Given the description of an element on the screen output the (x, y) to click on. 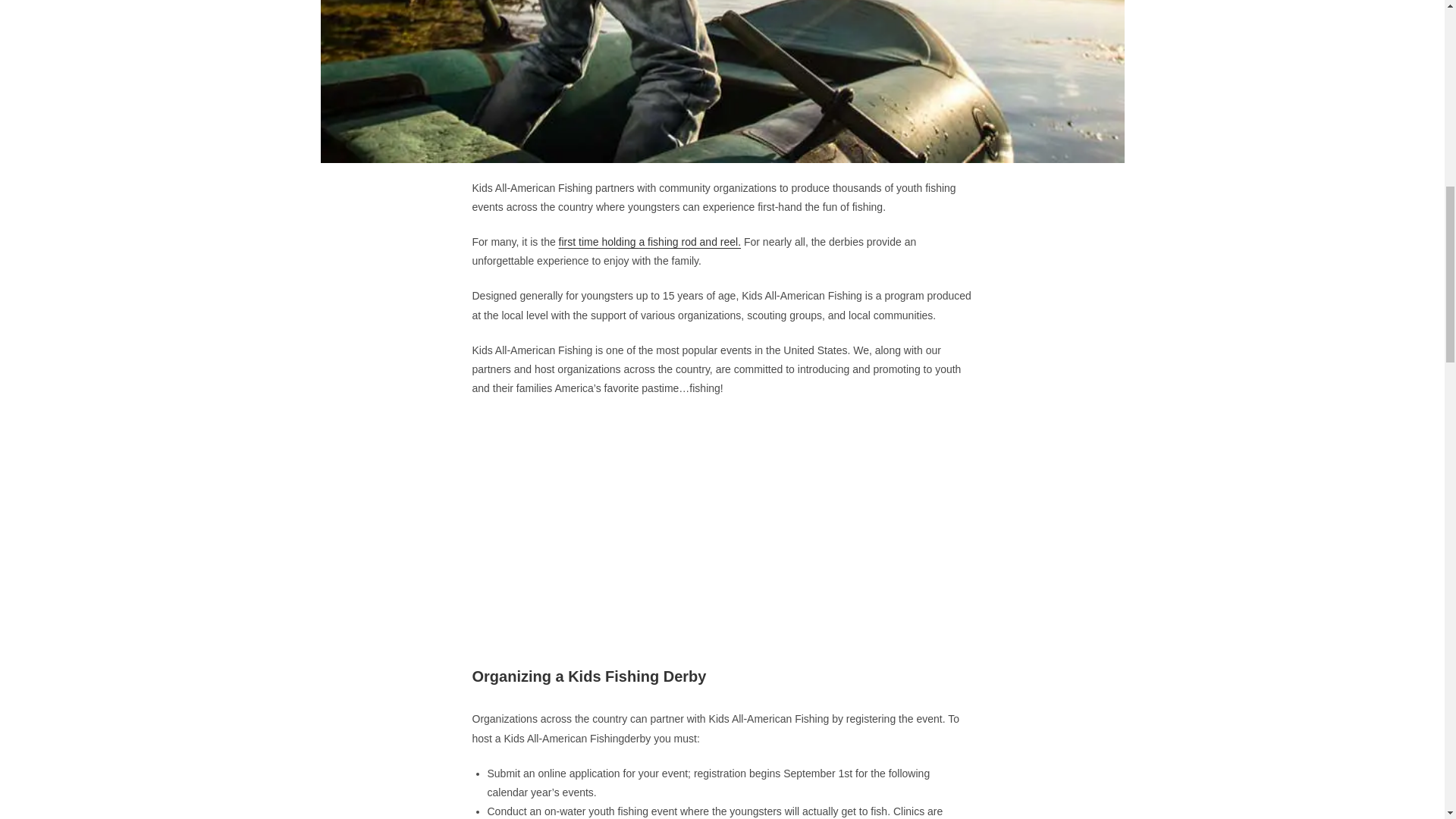
YouTube video player (721, 517)
first time holding a fishing rod and reel. (650, 241)
